Given the description of an element on the screen output the (x, y) to click on. 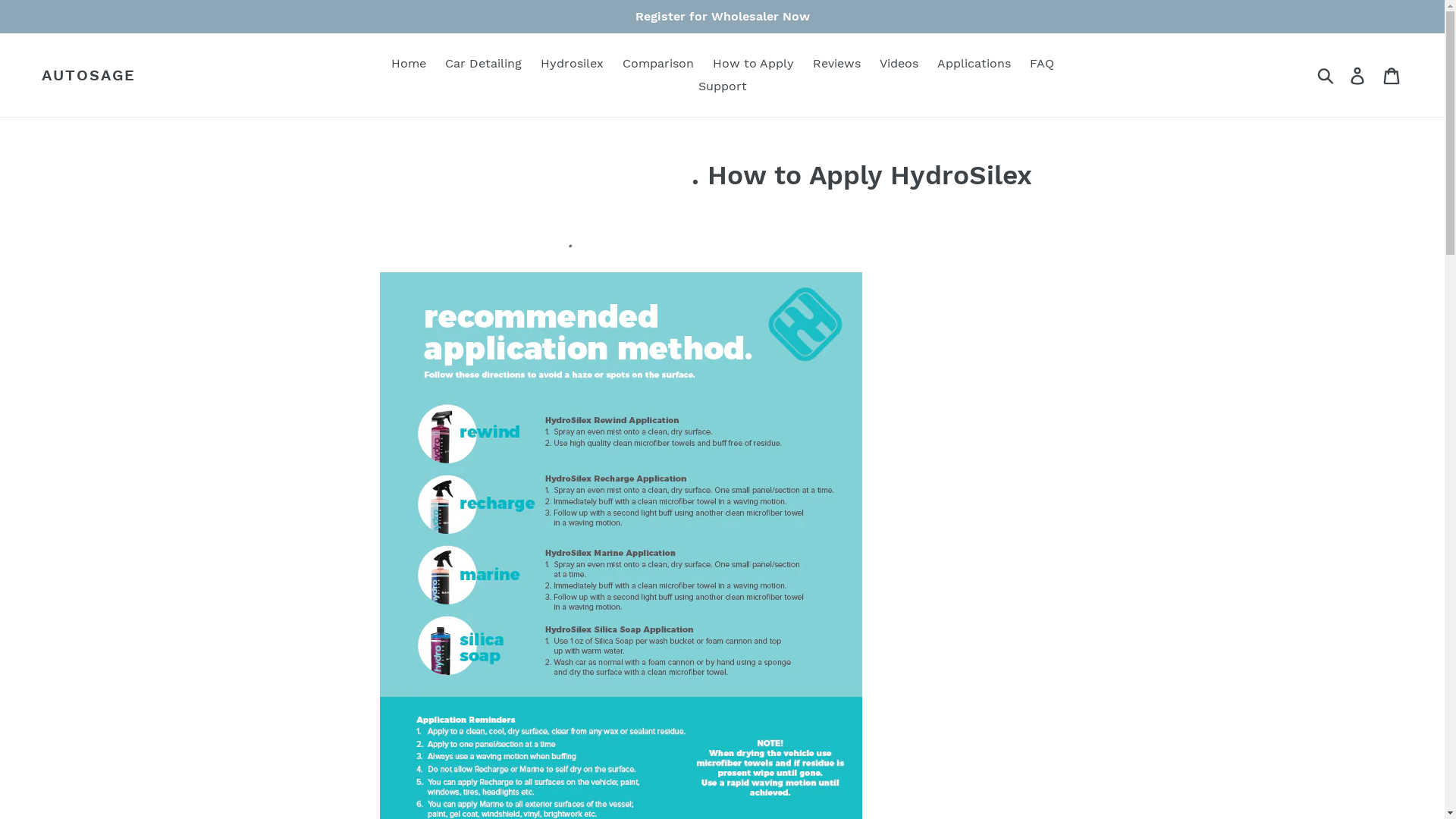
Reviews Element type: text (836, 63)
Cart Element type: text (1392, 75)
FAQ Element type: text (1041, 63)
Submit Element type: text (1326, 74)
Log in Element type: text (1358, 75)
Support Element type: text (721, 86)
Hydrosilex Element type: text (571, 63)
AUTOSAGE Element type: text (88, 74)
Register for Wholesaler Now Element type: text (722, 16)
Comparison Element type: text (657, 63)
Car Detailing Element type: text (482, 63)
Applications Element type: text (973, 63)
How to Apply Element type: text (753, 63)
Videos Element type: text (898, 63)
Home Element type: text (408, 63)
